Given the description of an element on the screen output the (x, y) to click on. 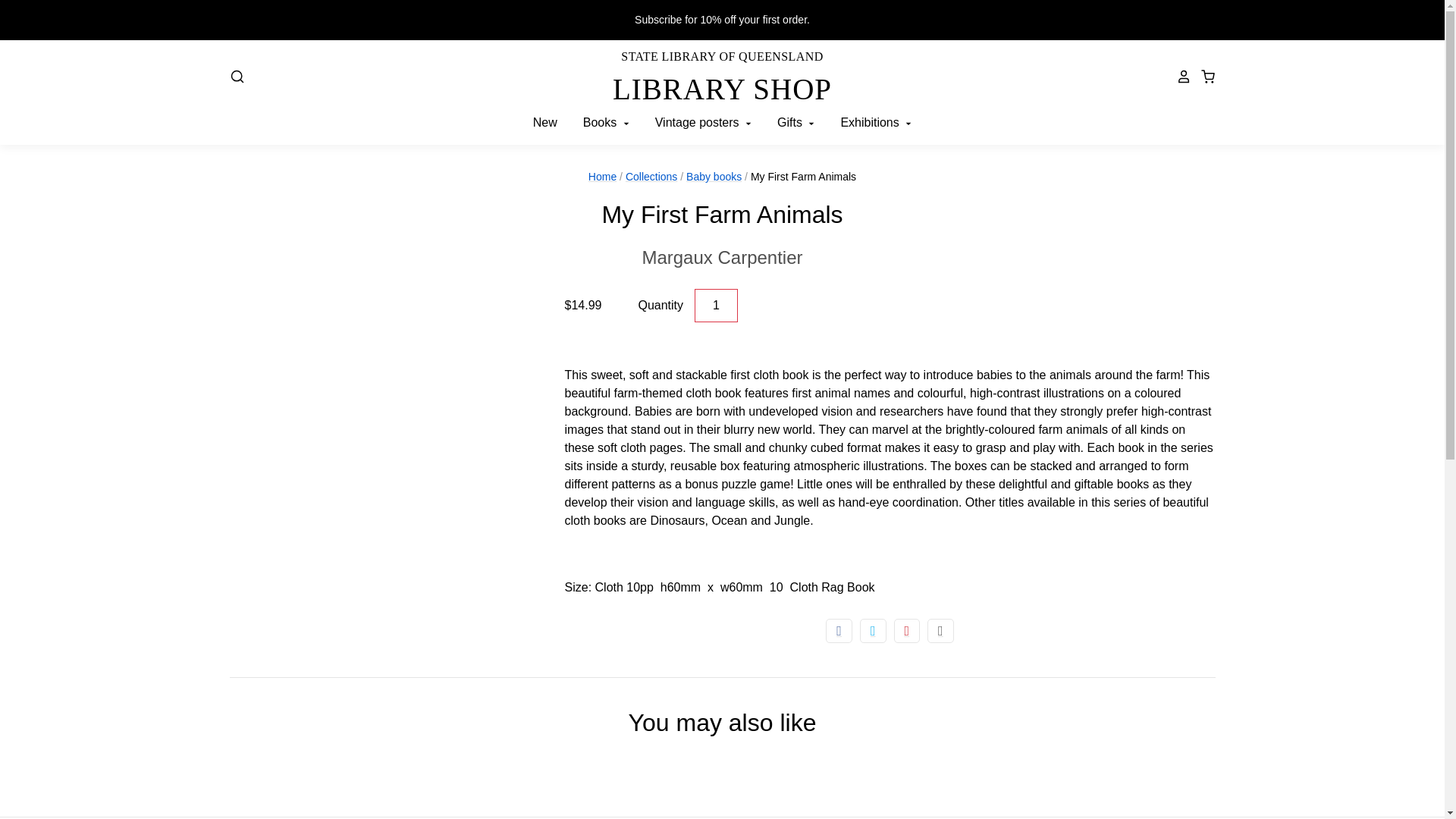
1 (722, 257)
